Given the description of an element on the screen output the (x, y) to click on. 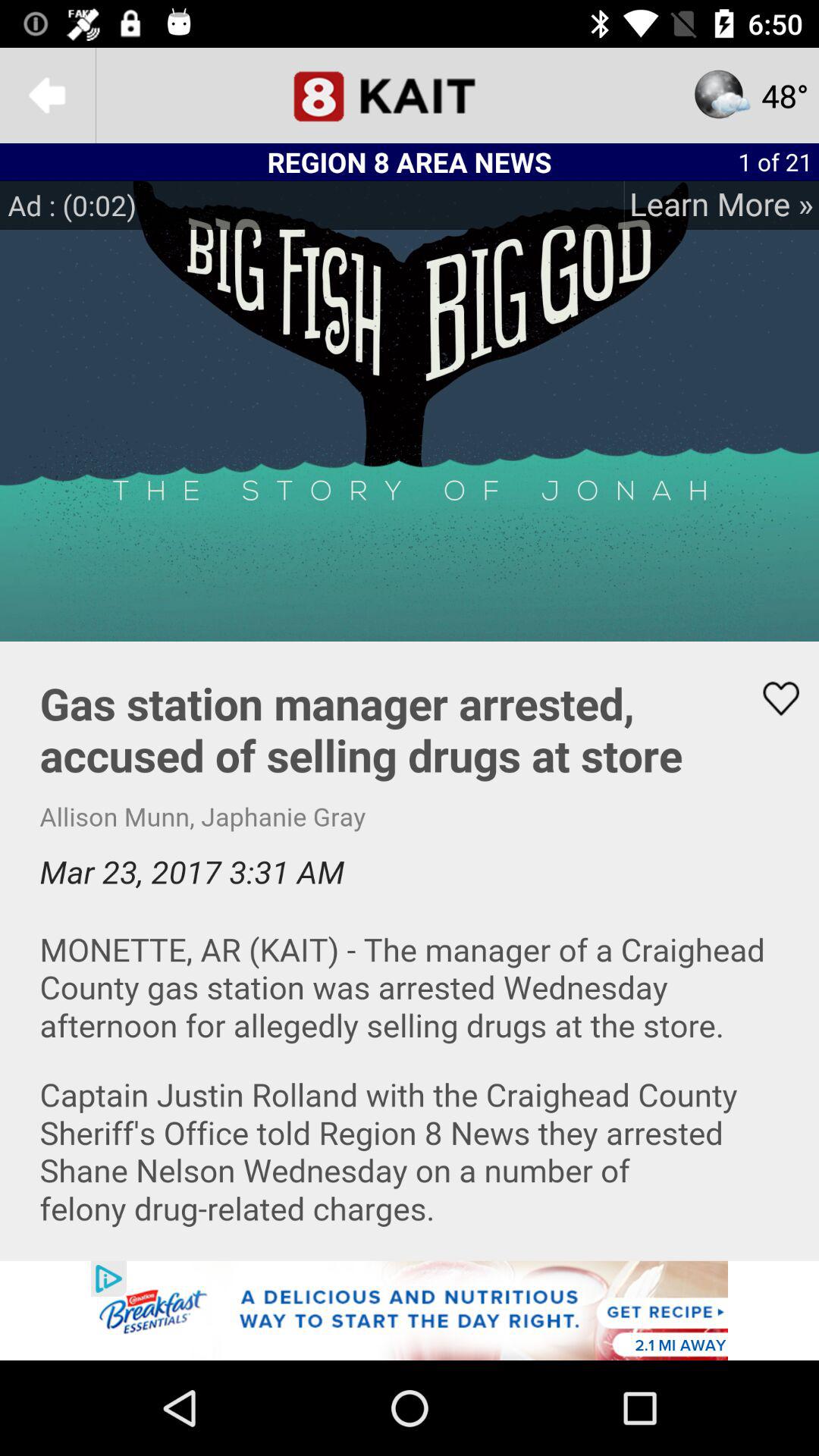
like option (771, 698)
